Given the description of an element on the screen output the (x, y) to click on. 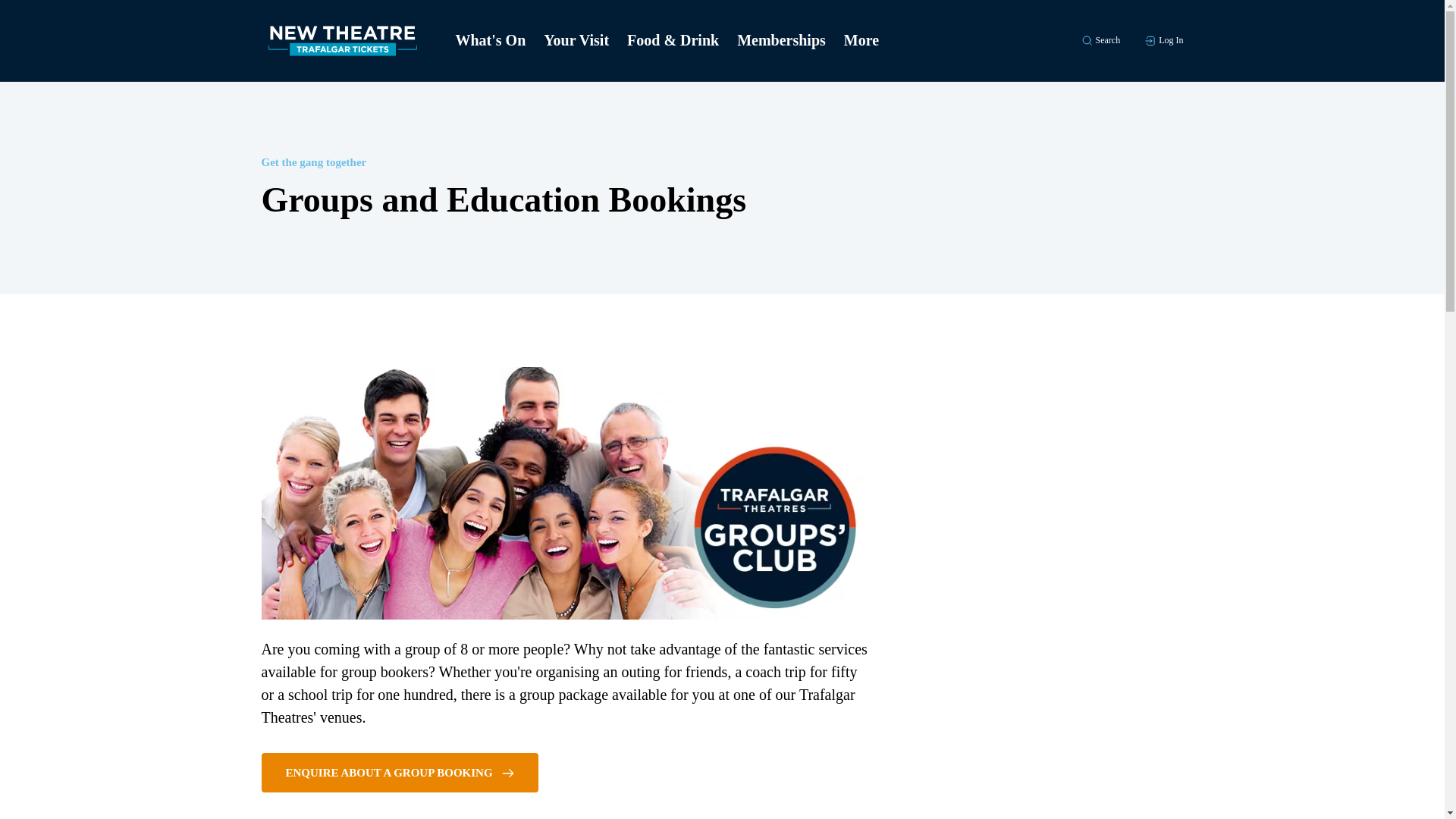
Your Visit (575, 41)
Search (1101, 40)
What's On (489, 41)
Memberships (780, 41)
Log In (1163, 40)
More (861, 40)
ENQUIRE ABOUT A GROUP BOOKING (398, 772)
